Given the description of an element on the screen output the (x, y) to click on. 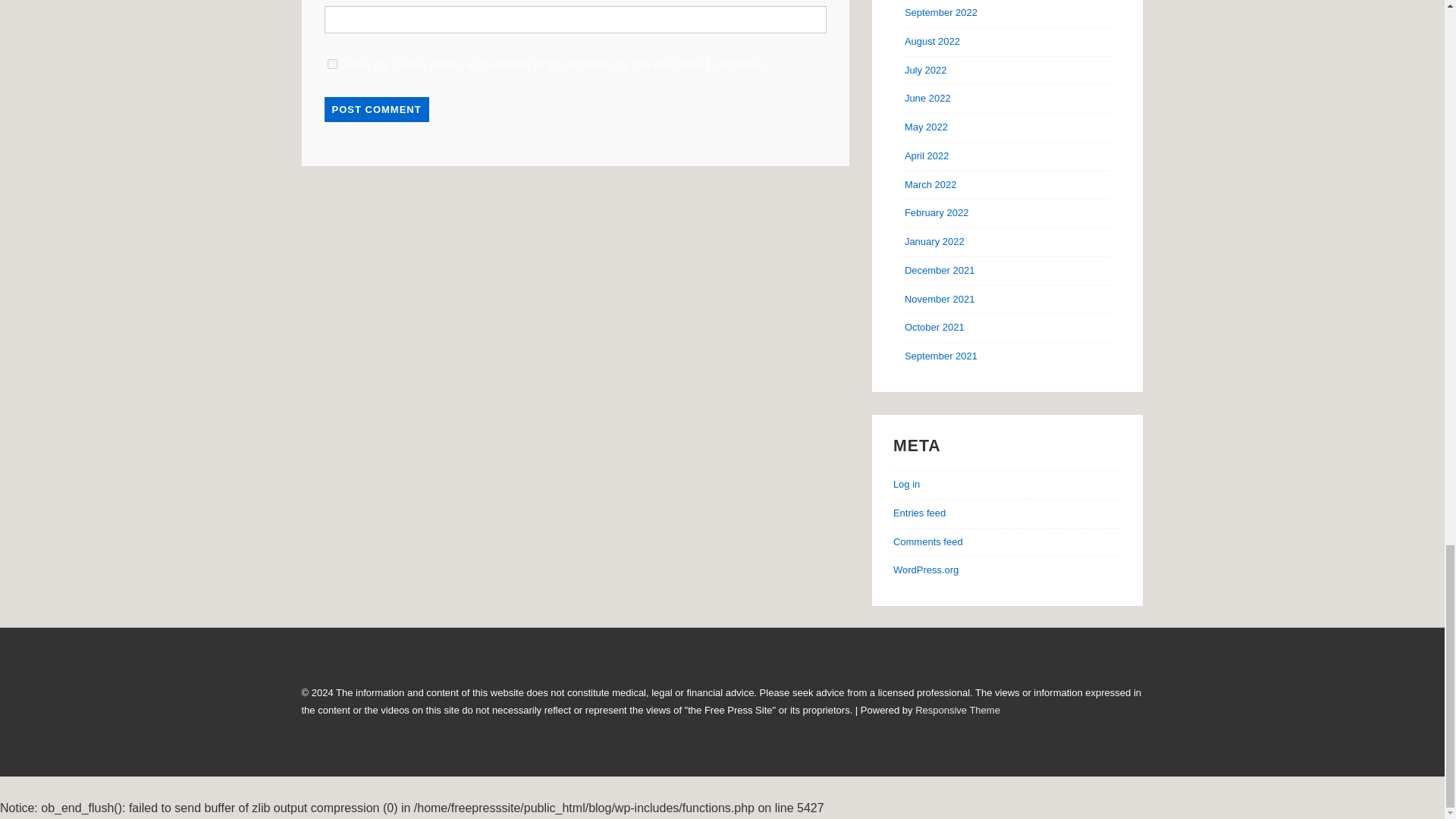
Post Comment (376, 109)
Post Comment (376, 109)
yes (332, 63)
